Given the description of an element on the screen output the (x, y) to click on. 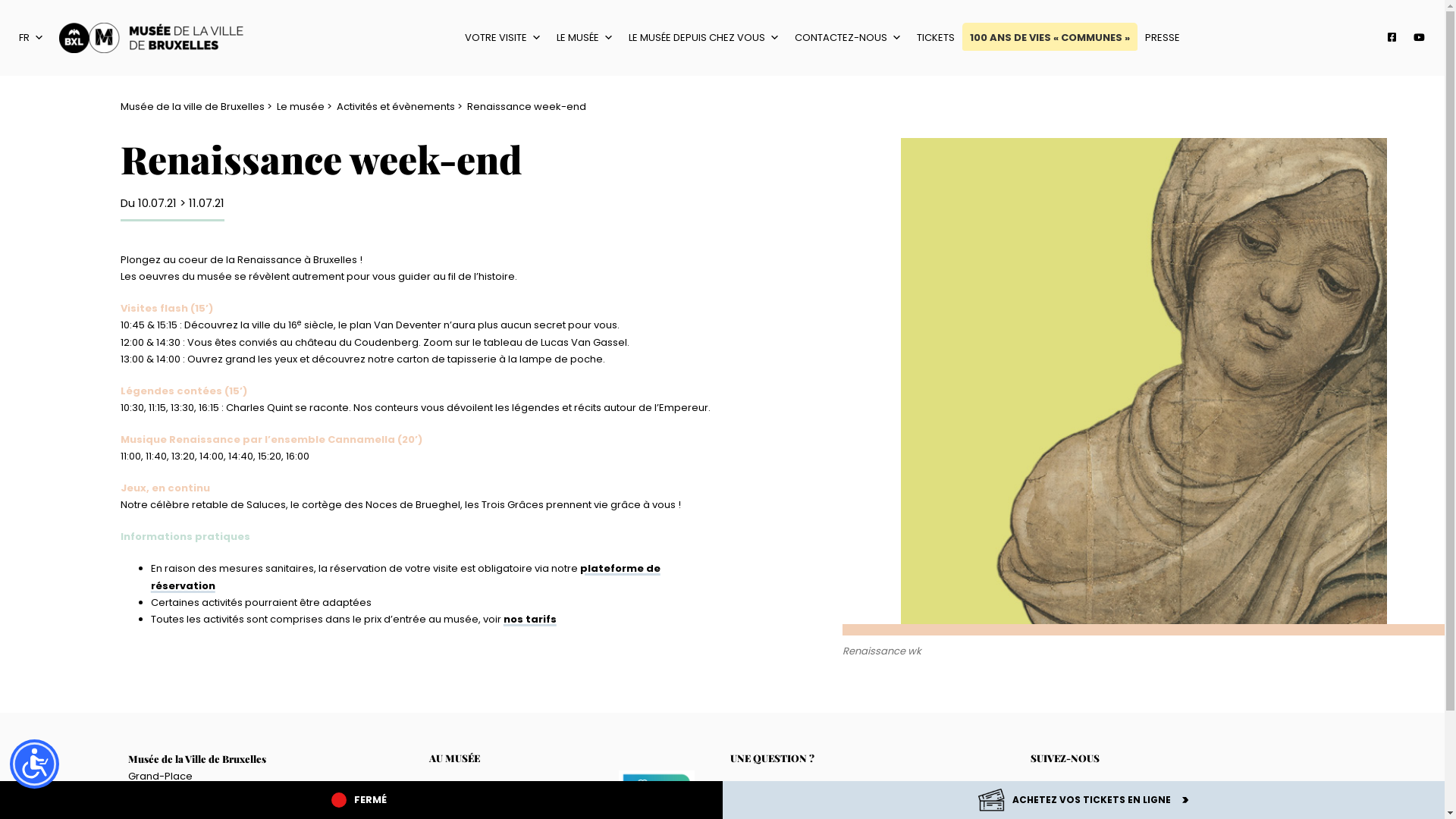
VOTRE VISITE Element type: text (503, 37)
TICKETS Element type: text (935, 37)
nos tarifs Element type: text (529, 618)
Team Element type: text (456, 794)
FR Element type: text (31, 37)
ACHETEZ VOS TICKETS EN LIGNE Element type: text (1083, 799)
CONTACTEZ-NOUS Element type: text (848, 37)
PRESSE Element type: text (1162, 37)
Formulaire de contact Element type: text (803, 794)
